Given the description of an element on the screen output the (x, y) to click on. 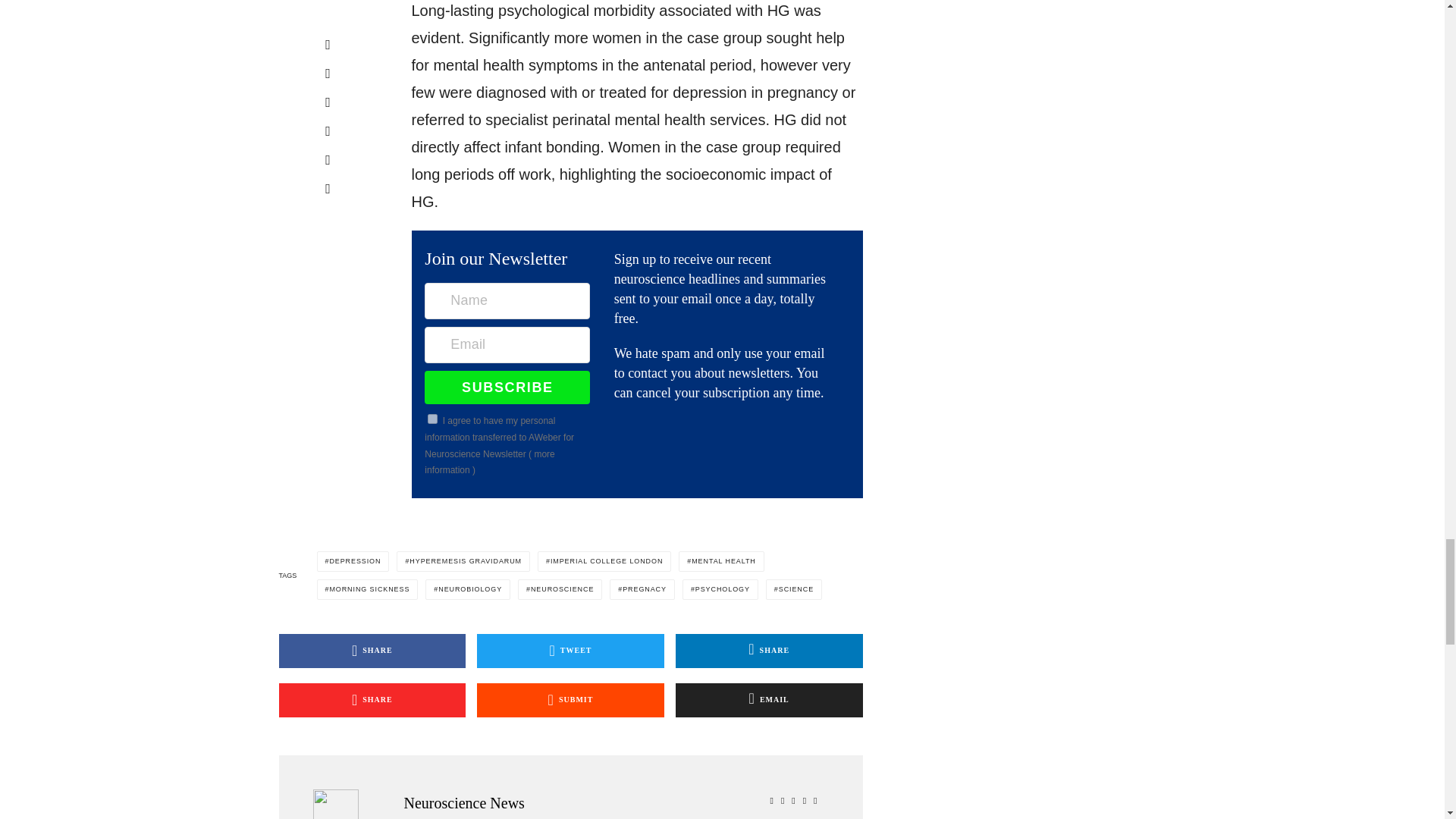
SHARE (769, 650)
more information (489, 461)
NEUROSCIENCE (560, 589)
MENTAL HEALTH (720, 561)
IMPERIAL COLLEGE LONDON (604, 561)
SHARE (372, 700)
SHARE (372, 650)
SCIENCE (793, 589)
PREGNACY (642, 589)
PSYCHOLOGY (720, 589)
